Given the description of an element on the screen output the (x, y) to click on. 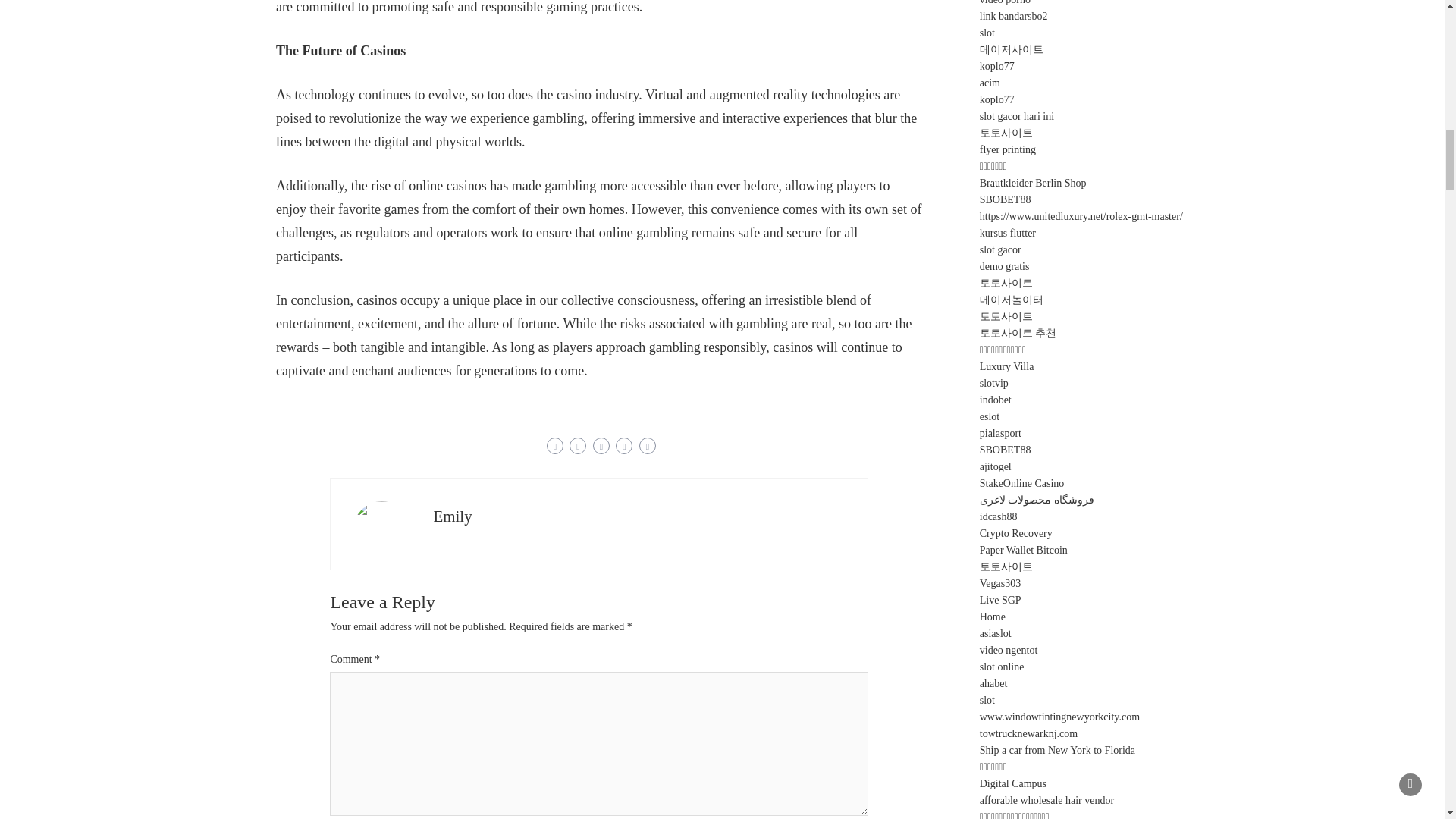
Emily (451, 515)
